Given the description of an element on the screen output the (x, y) to click on. 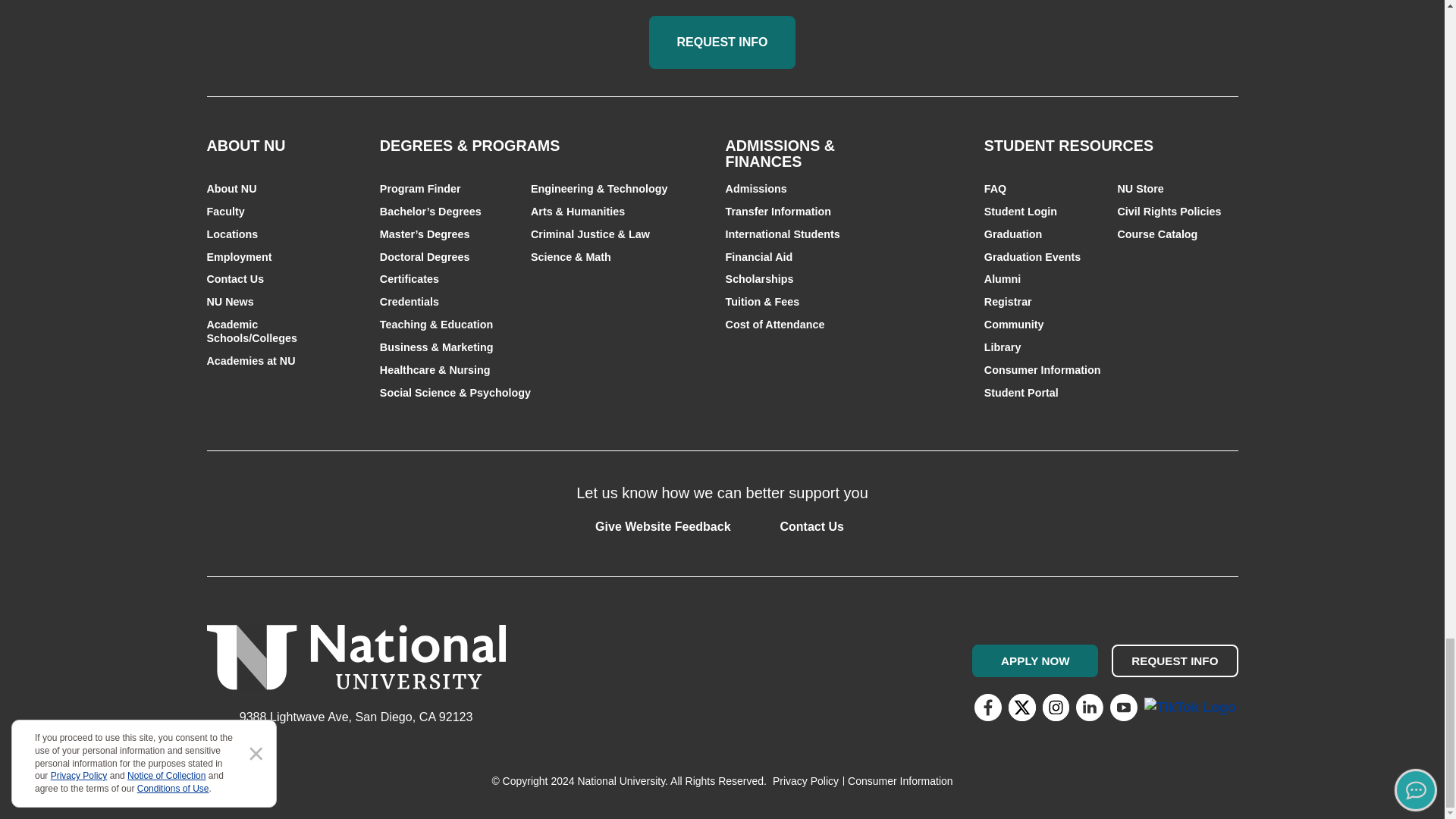
Follow National University On Linkedin (1089, 706)
Follow National University On Instagram (1056, 706)
Watch Us On TikTok. (1190, 706)
Follow National University On Twitter (1022, 706)
Like National University Facebook (987, 706)
Learn more about: Consumer Information (900, 780)
Watch Us On YouTube. (1123, 706)
View Our Privacy Policy (805, 780)
